Given the description of an element on the screen output the (x, y) to click on. 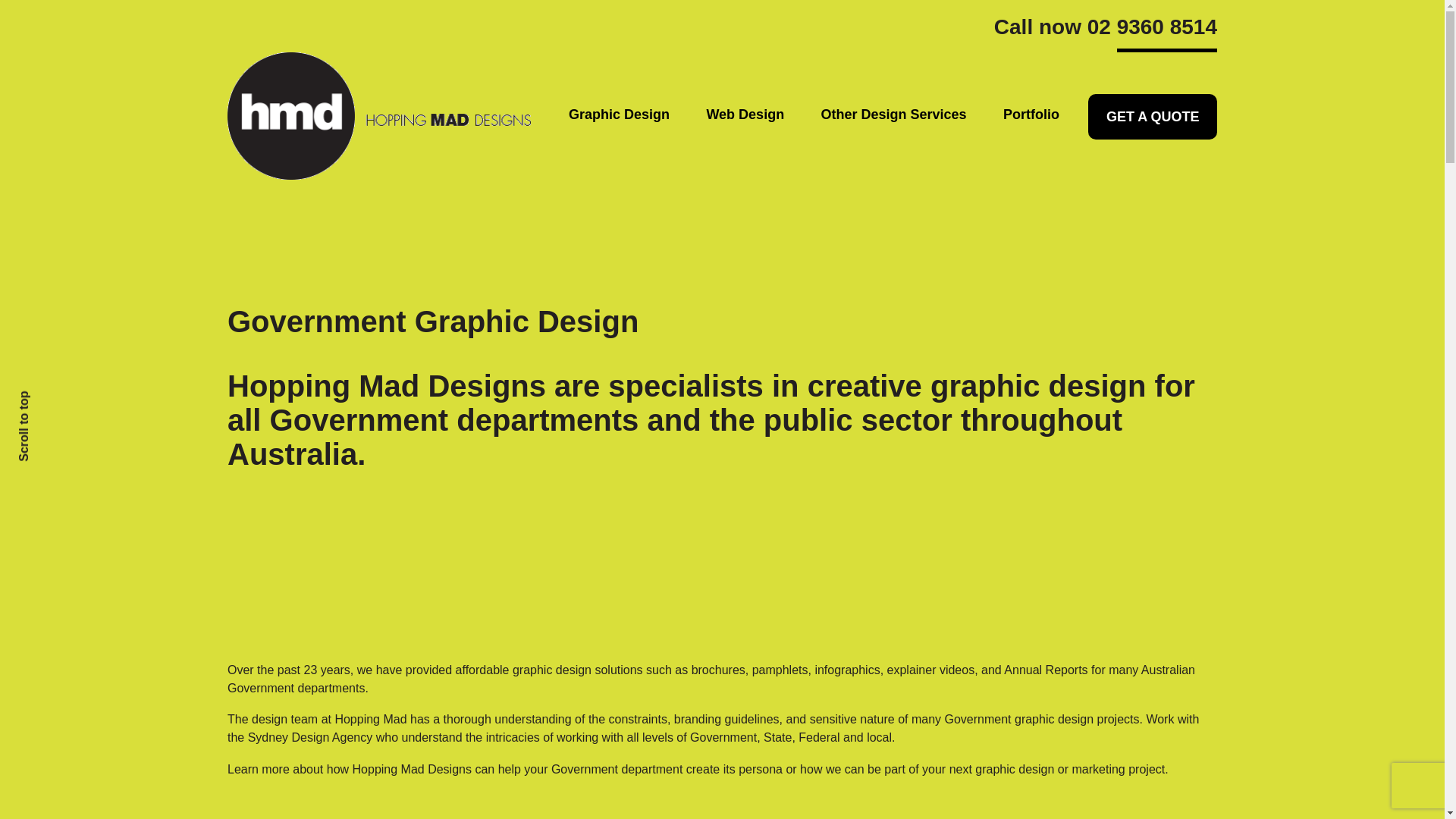
Graphic Design (619, 114)
Portfolio (1031, 114)
Hopping Mad Design (379, 115)
Web Design (745, 114)
Other Design Services (893, 114)
Submit (345, 619)
Call now 02 9360 8514 (1105, 31)
GET A QUOTE (1151, 116)
